Given the description of an element on the screen output the (x, y) to click on. 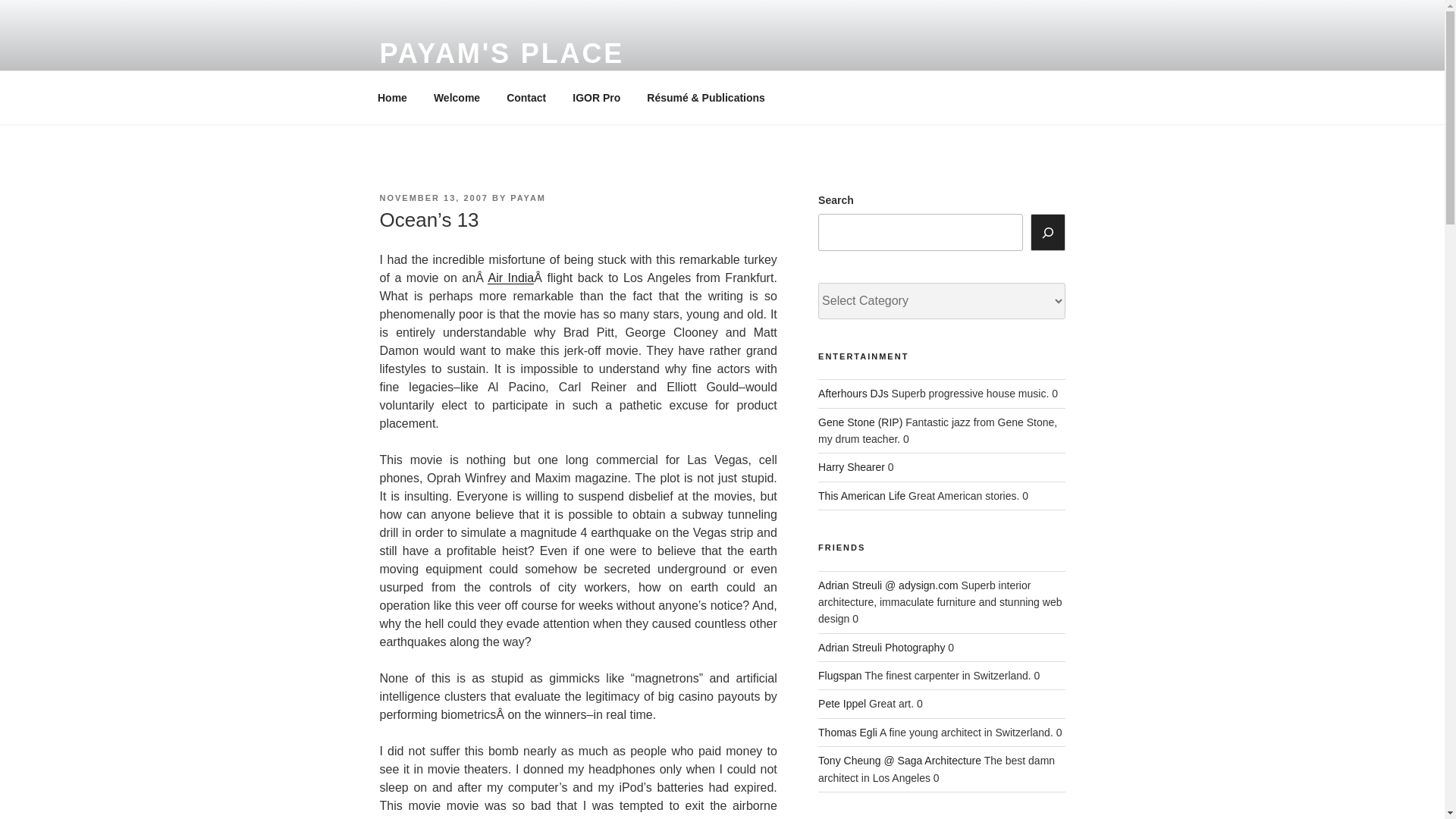
Superb progressive house music. (853, 393)
This American Life (861, 495)
Harry Shearer (851, 467)
PAYAM (528, 197)
Home (392, 97)
Adrian Streuli Photography (881, 647)
Flugspan (839, 675)
Great American stories. (861, 495)
Afterhours DJs (853, 393)
Contact (526, 97)
